Given the description of an element on the screen output the (x, y) to click on. 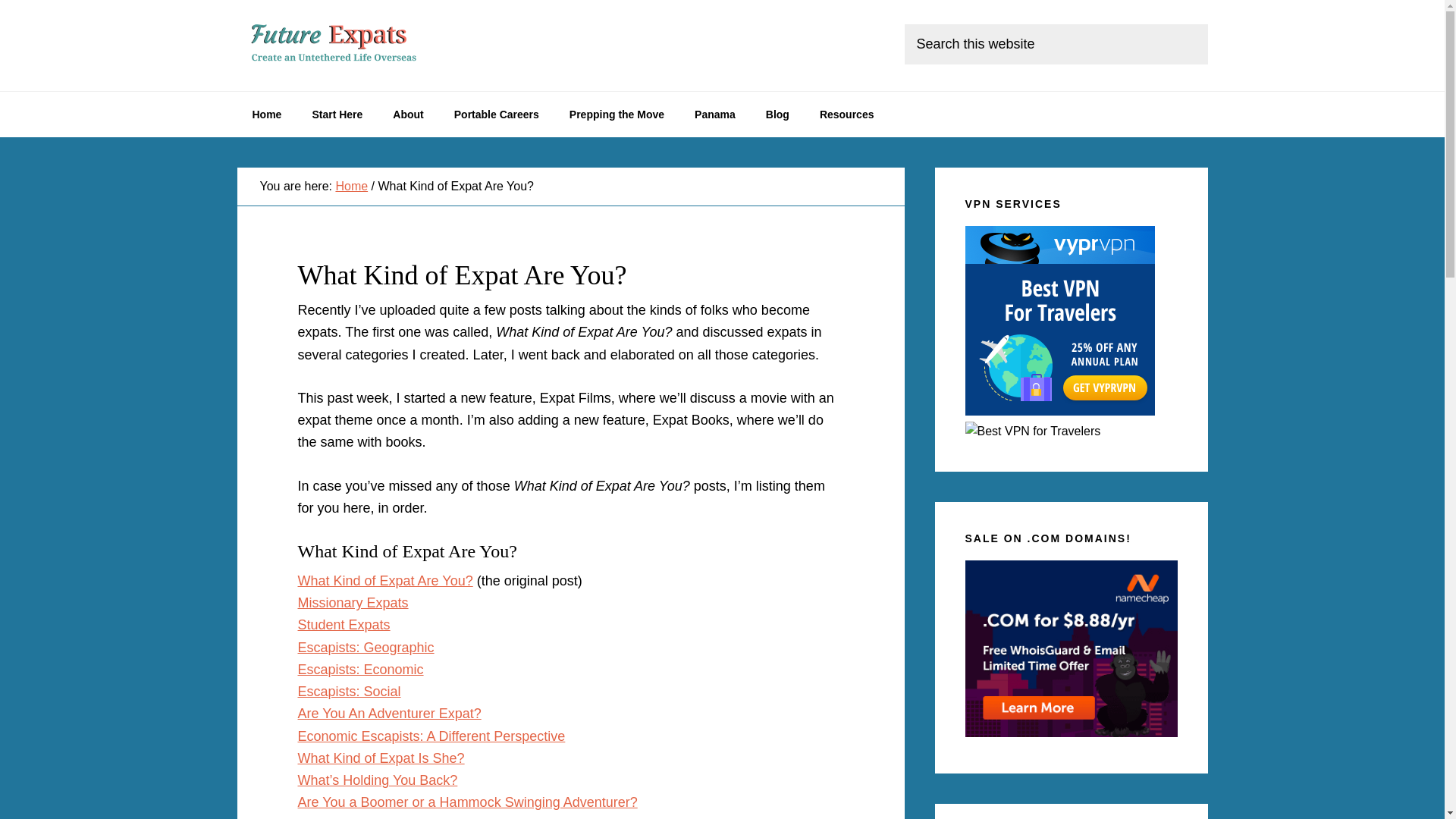
Prepping the Move (616, 114)
Future Expats (349, 45)
Portable Careers (496, 114)
Home (266, 114)
About (407, 114)
Start Here (337, 114)
